Given the description of an element on the screen output the (x, y) to click on. 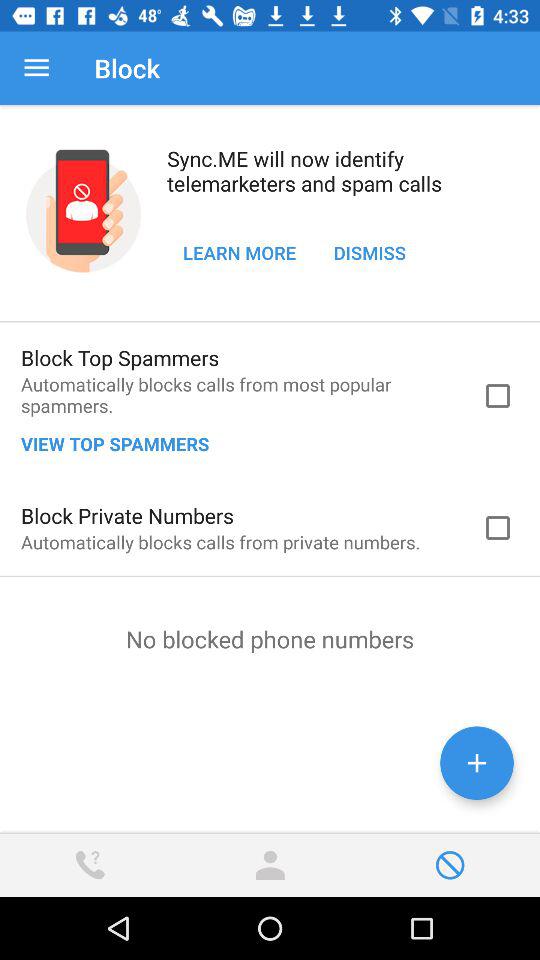
scroll until the learn more (239, 252)
